Given the description of an element on the screen output the (x, y) to click on. 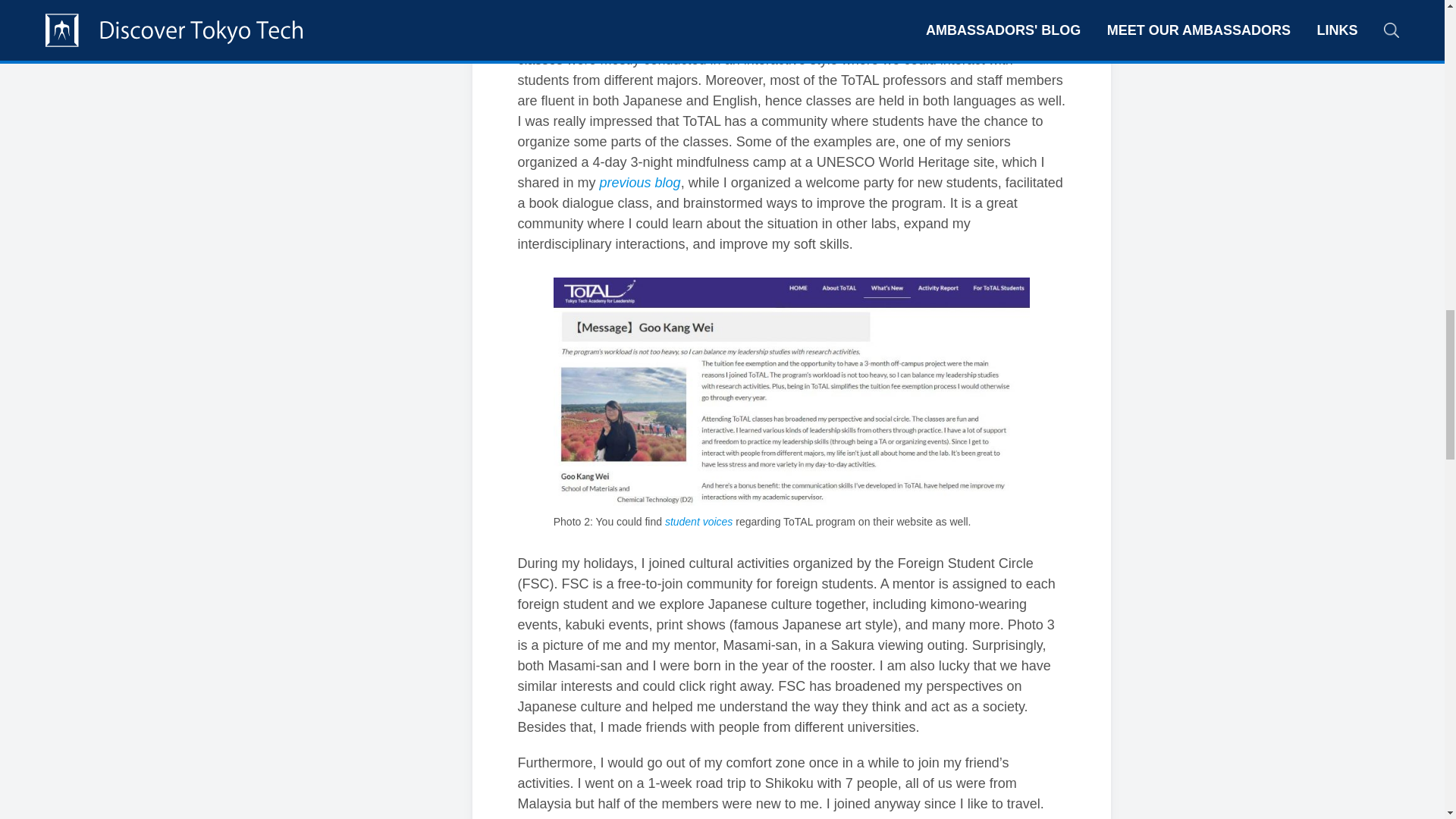
student voices (699, 521)
Tokyo Tech Academy of Leadership (789, 13)
previous blog (640, 182)
